Given the description of an element on the screen output the (x, y) to click on. 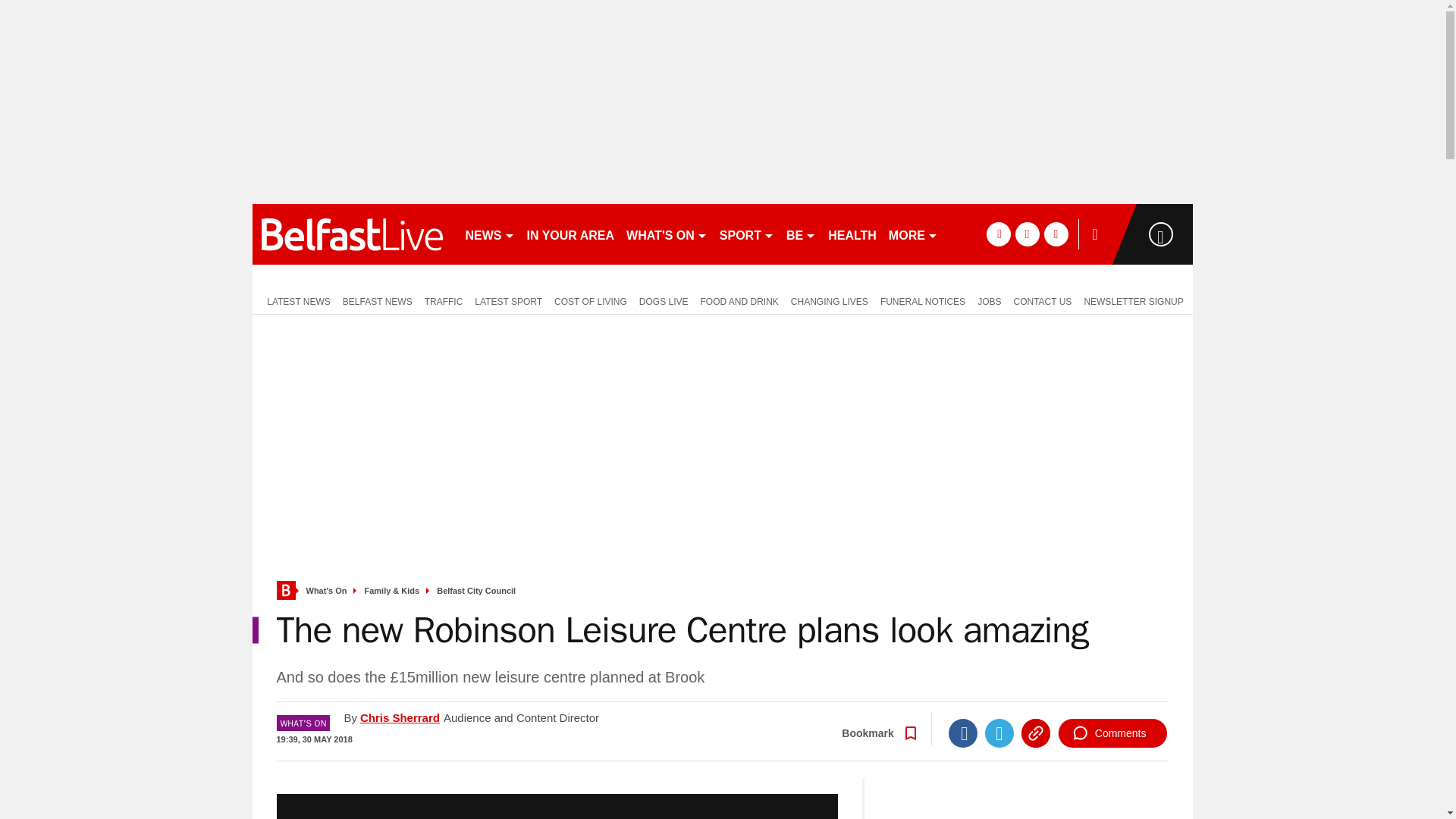
belfastlive (351, 233)
SPORT (746, 233)
twitter (1026, 233)
Comments (1112, 733)
instagram (1055, 233)
Twitter (999, 733)
facebook (997, 233)
NEWS (490, 233)
Facebook (962, 733)
WHAT'S ON (666, 233)
